Given the description of an element on the screen output the (x, y) to click on. 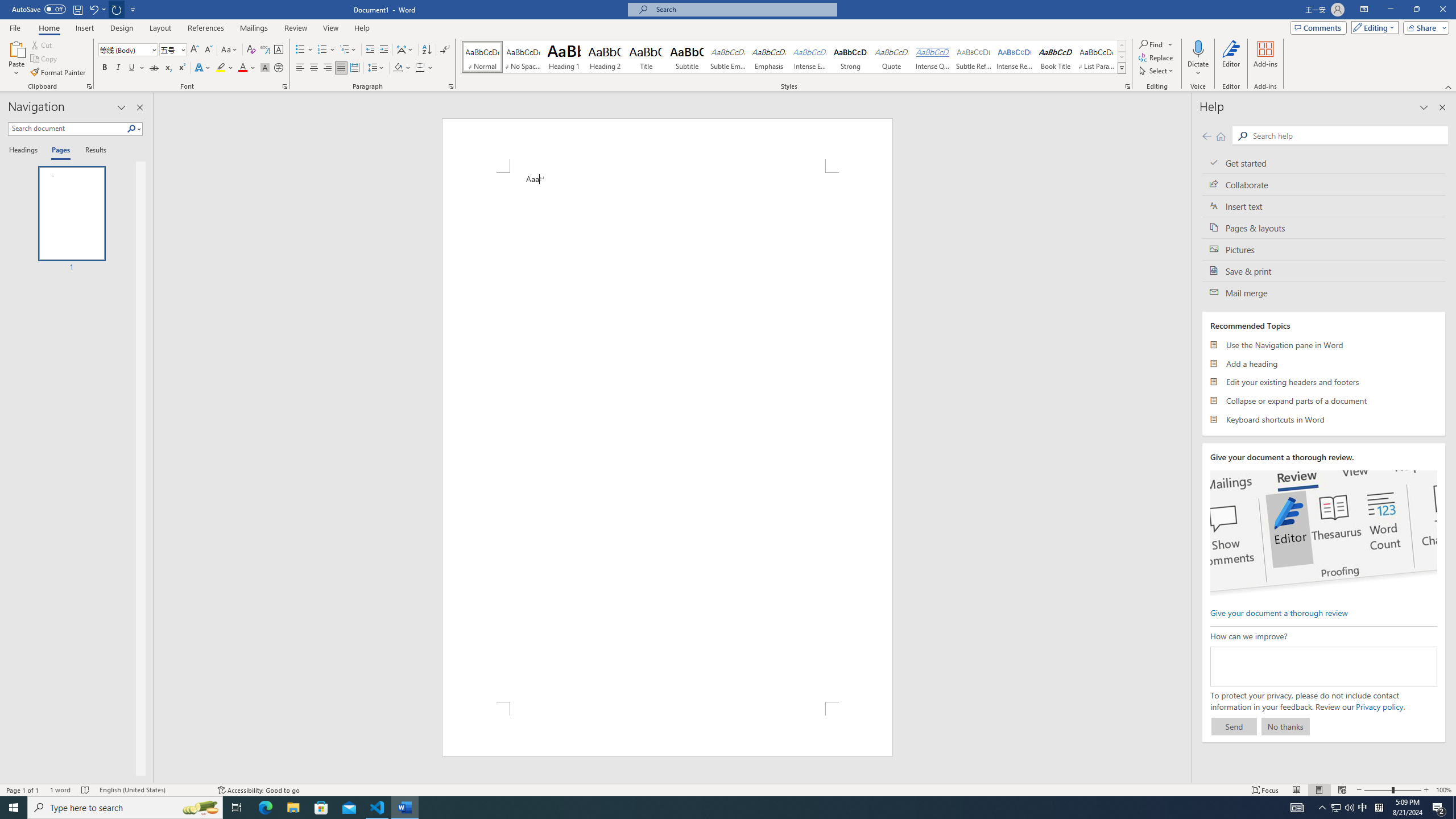
Clear Formatting (250, 49)
Asian Layout (405, 49)
Find (1151, 44)
Shading RGB(0, 0, 0) (397, 67)
Dictate (1197, 48)
Undo Style (92, 9)
Grow Font (193, 49)
Headings (25, 150)
Bold (104, 67)
Subscript (167, 67)
Save (77, 9)
Restore Down (1416, 9)
Close pane (139, 107)
Paragraph... (450, 85)
Language English (United States) (152, 790)
